Given the description of an element on the screen output the (x, y) to click on. 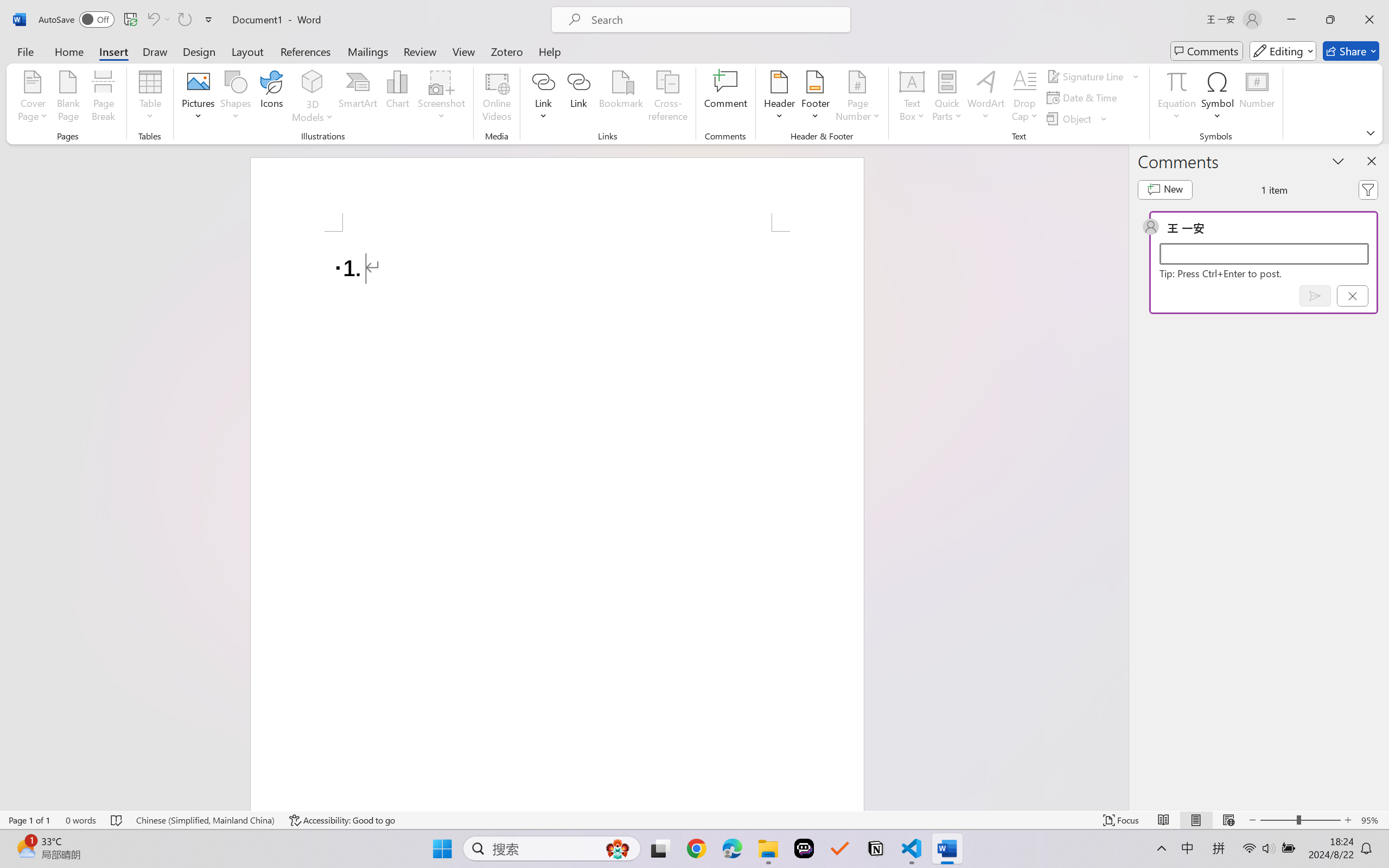
Language Chinese (Simplified, Mainland China) (205, 819)
Zoom 95% (1372, 819)
Pictures (198, 97)
Link (578, 97)
Blank Page (67, 97)
Chart... (396, 97)
Cancel (1352, 295)
Comment (725, 97)
